Given the description of an element on the screen output the (x, y) to click on. 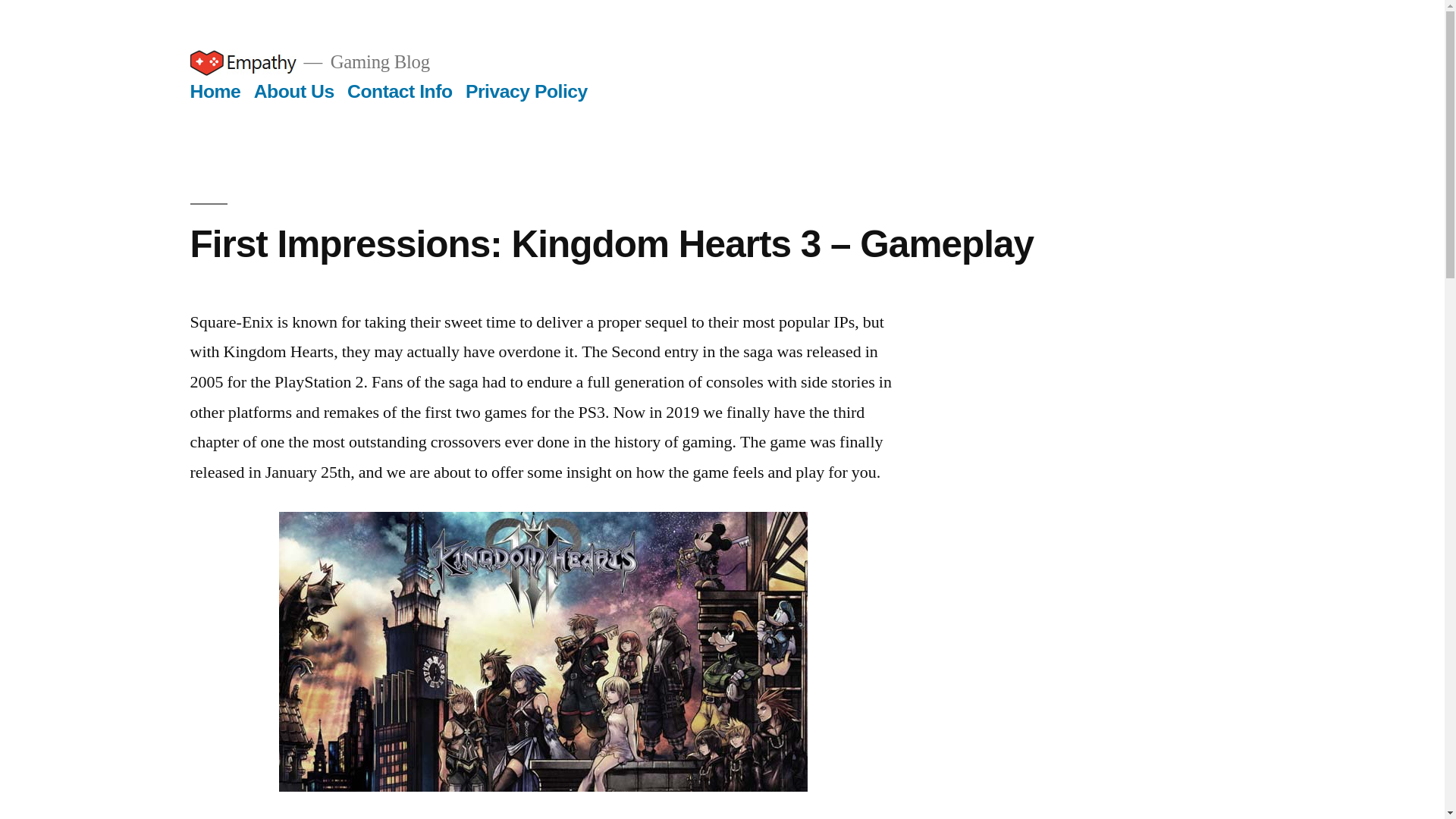
About Us (293, 90)
Contact Info (399, 90)
Privacy Policy (526, 90)
Home (214, 90)
Empathy (242, 61)
